Given the description of an element on the screen output the (x, y) to click on. 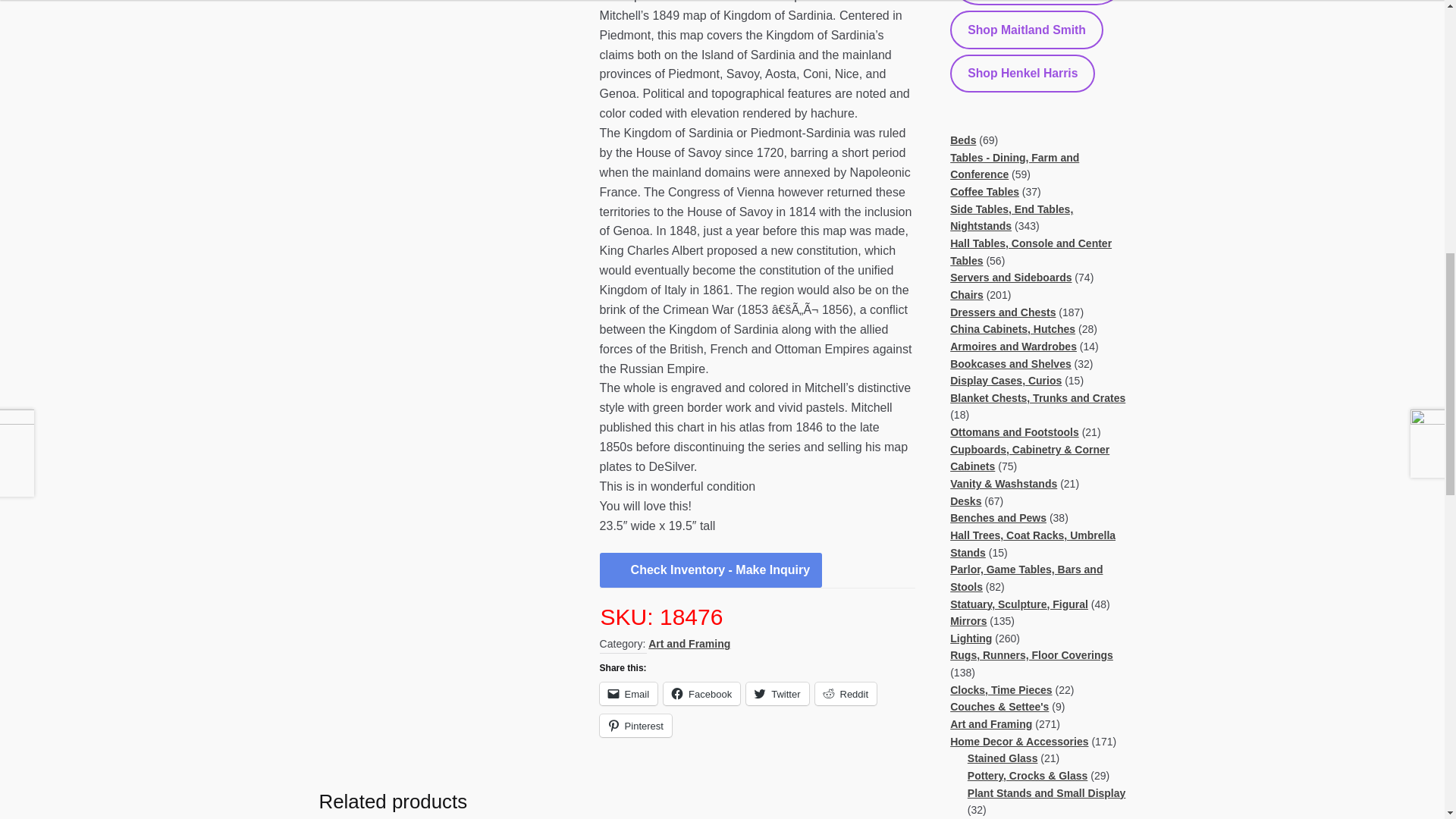
Click to share on Facebook (701, 693)
Click to share on Twitter (776, 693)
Click to share on Reddit (844, 693)
Click to share on Pinterest (635, 725)
Click to email a link to a friend (628, 693)
